Given the description of an element on the screen output the (x, y) to click on. 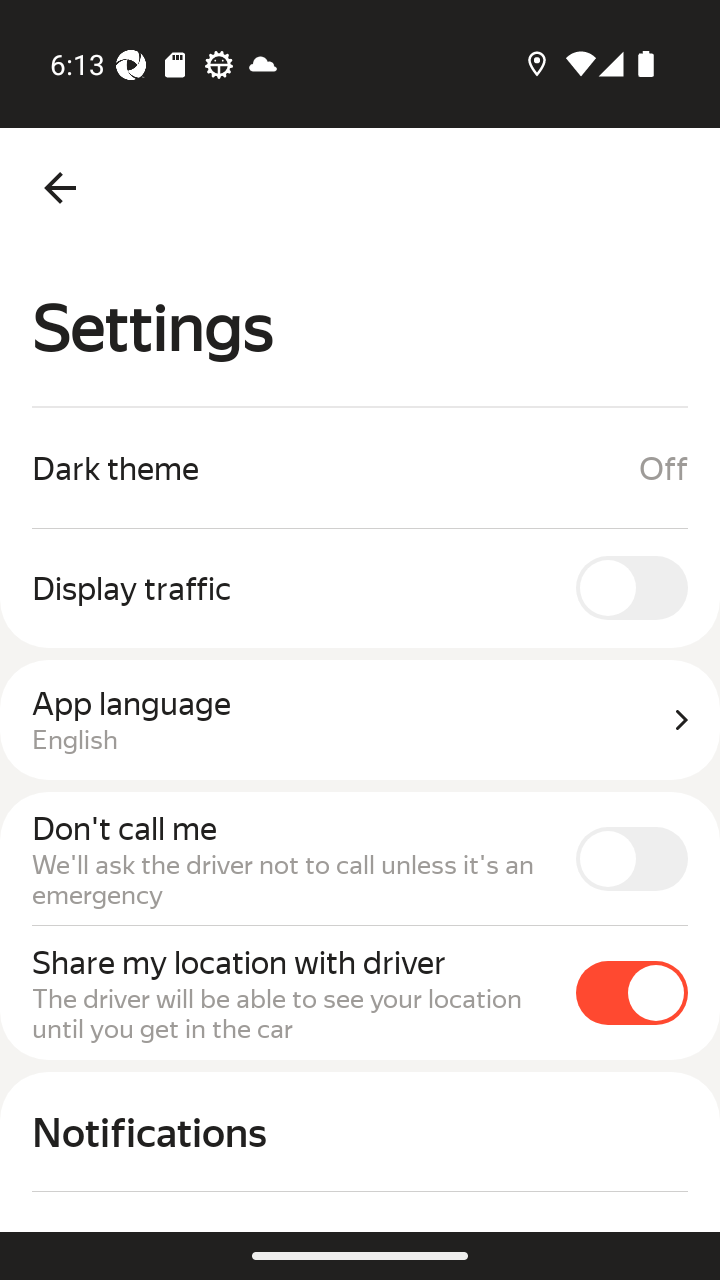
Back (60, 188)
Dark theme Dark theme Off Off (360, 467)
Display traffic (360, 587)
App language, English App language English (360, 719)
